Given the description of an element on the screen output the (x, y) to click on. 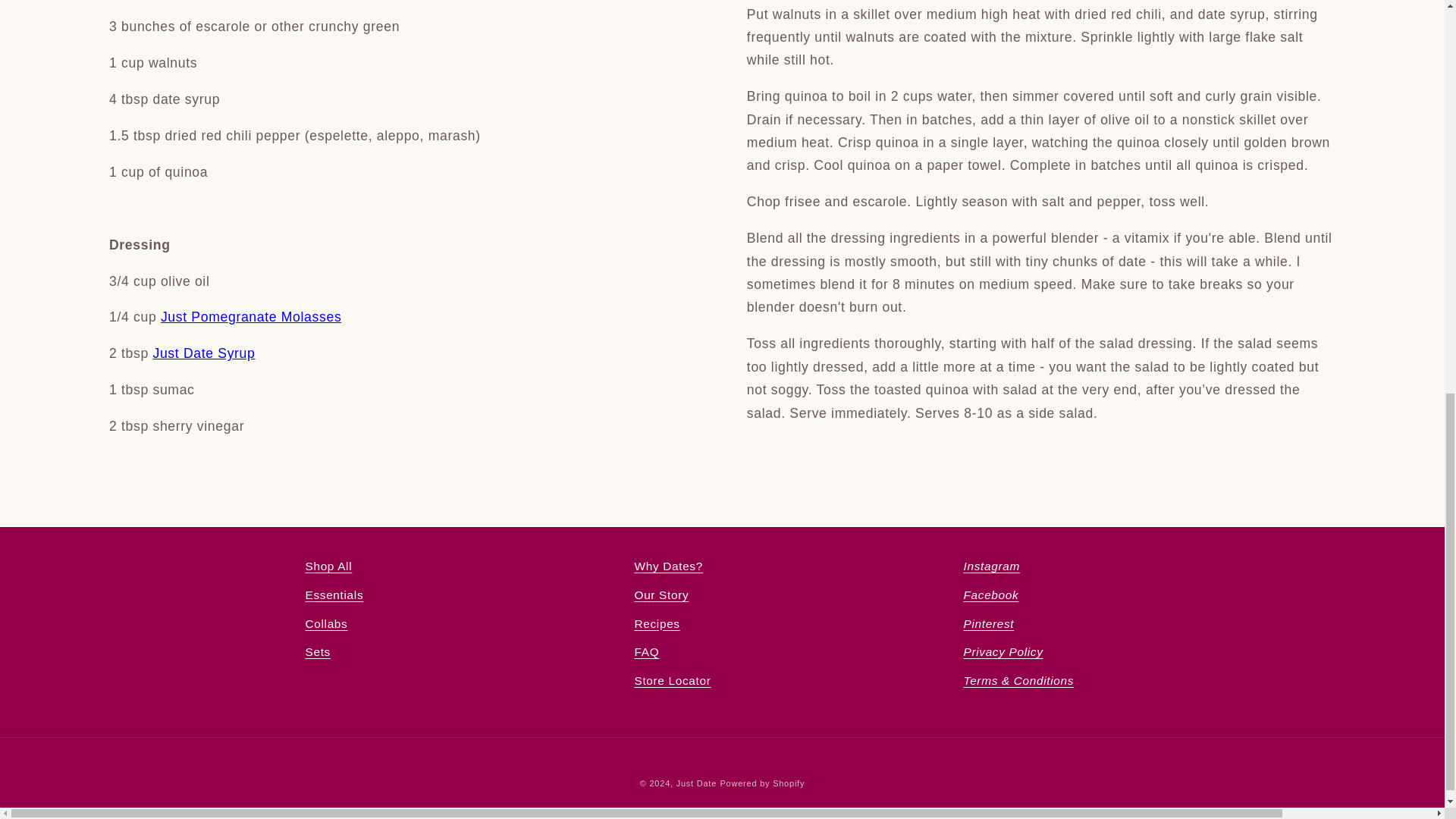
Why Dates? (667, 568)
Collabs (325, 623)
Just Date Syrup (203, 353)
Essentials (333, 594)
Shop All (328, 568)
Just Pomegranate Molasses (250, 316)
